Given the description of an element on the screen output the (x, y) to click on. 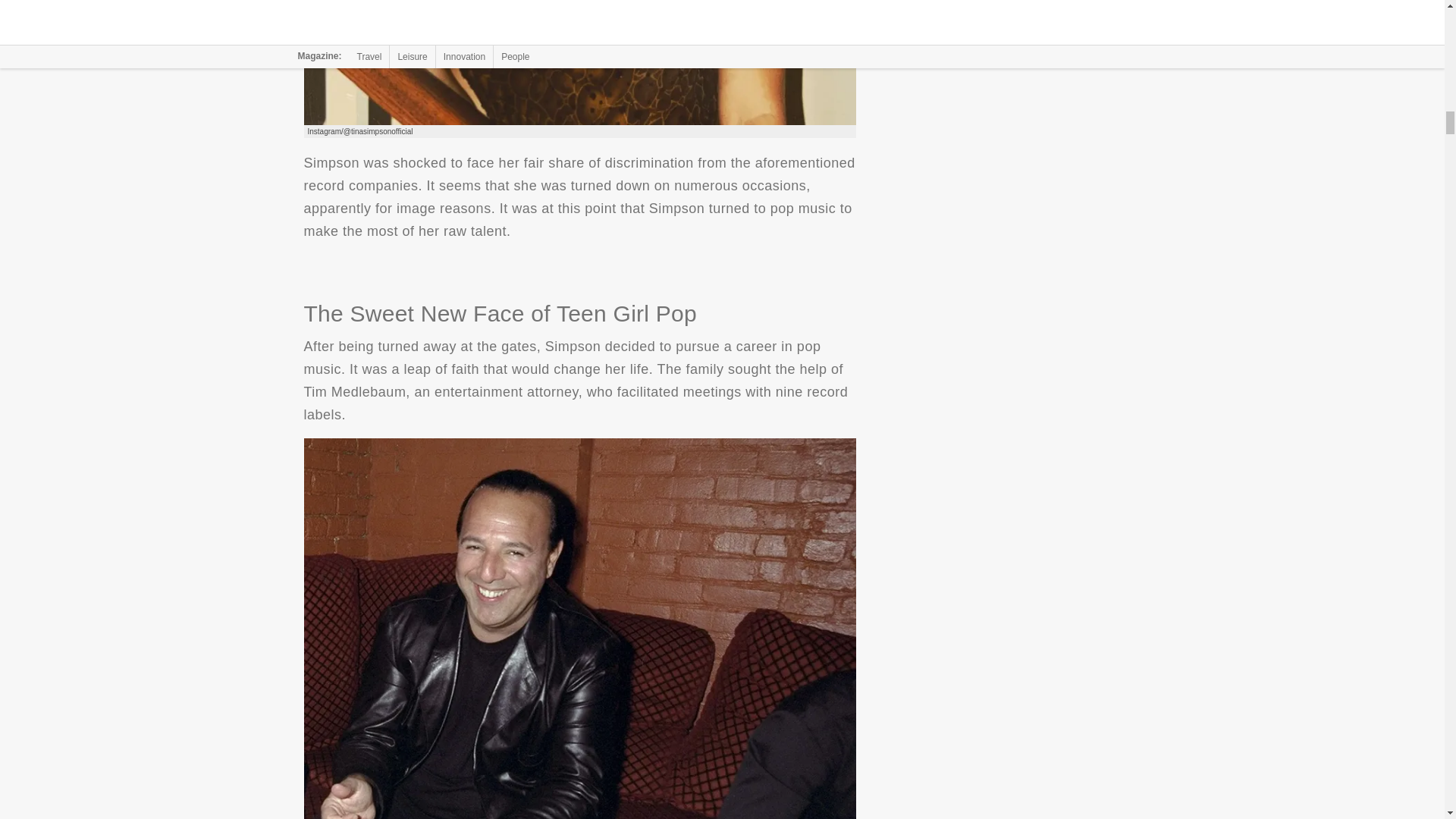
Salvation, But With Many Strings Attached (579, 62)
